Given the description of an element on the screen output the (x, y) to click on. 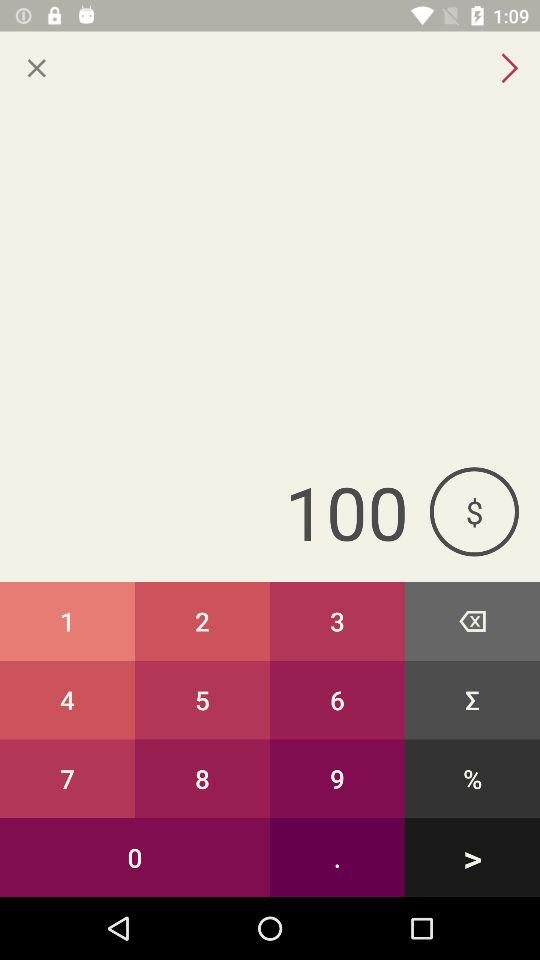
click the button next to 2 button (67, 620)
